Given the description of an element on the screen output the (x, y) to click on. 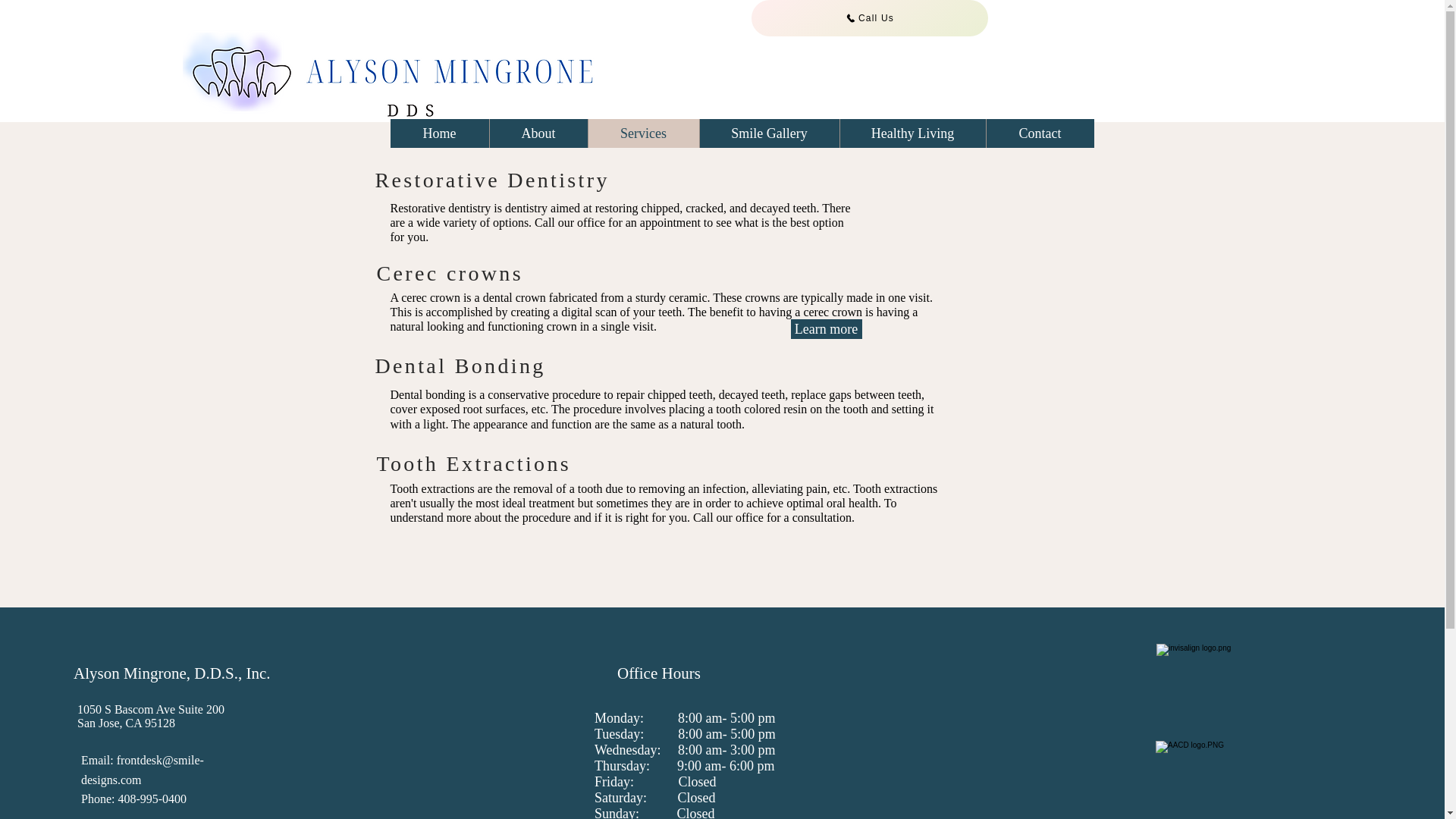
Alyson mignrone.png (411, 60)
Healthy Living (911, 133)
Services (642, 133)
Contact (1039, 133)
Home (438, 133)
Smile Gallery (769, 133)
Learn more (825, 329)
Call Us (869, 18)
About (536, 133)
